Given the description of an element on the screen output the (x, y) to click on. 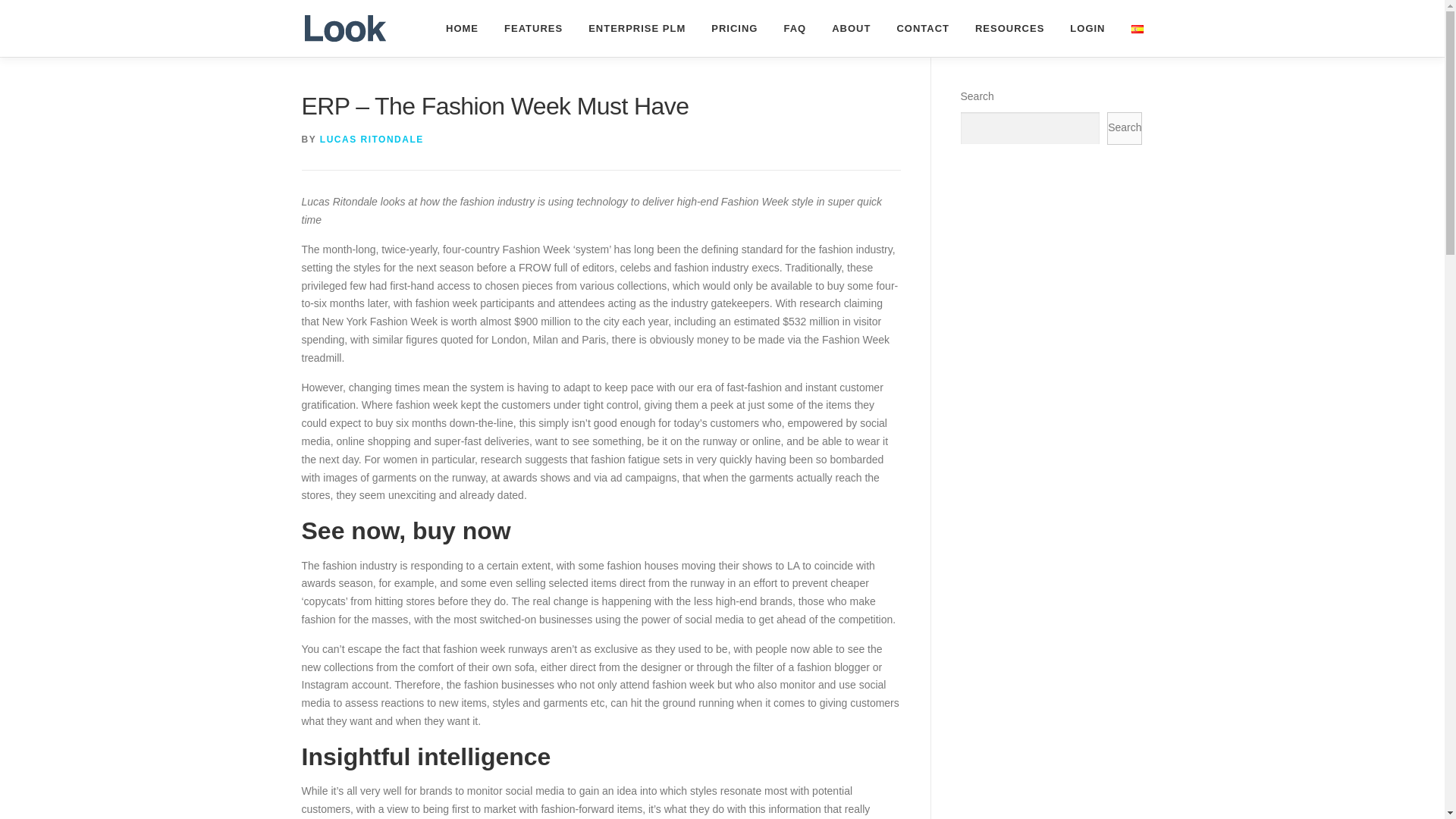
ABOUT (850, 28)
FEATURES (533, 28)
PRICING (734, 28)
RESOURCES (1009, 28)
Search (1123, 128)
ENTERPRISE PLM (636, 28)
CONTACT (922, 28)
HOME (462, 28)
LUCAS RITONDALE (371, 139)
LOGIN (1087, 28)
